Given the description of an element on the screen output the (x, y) to click on. 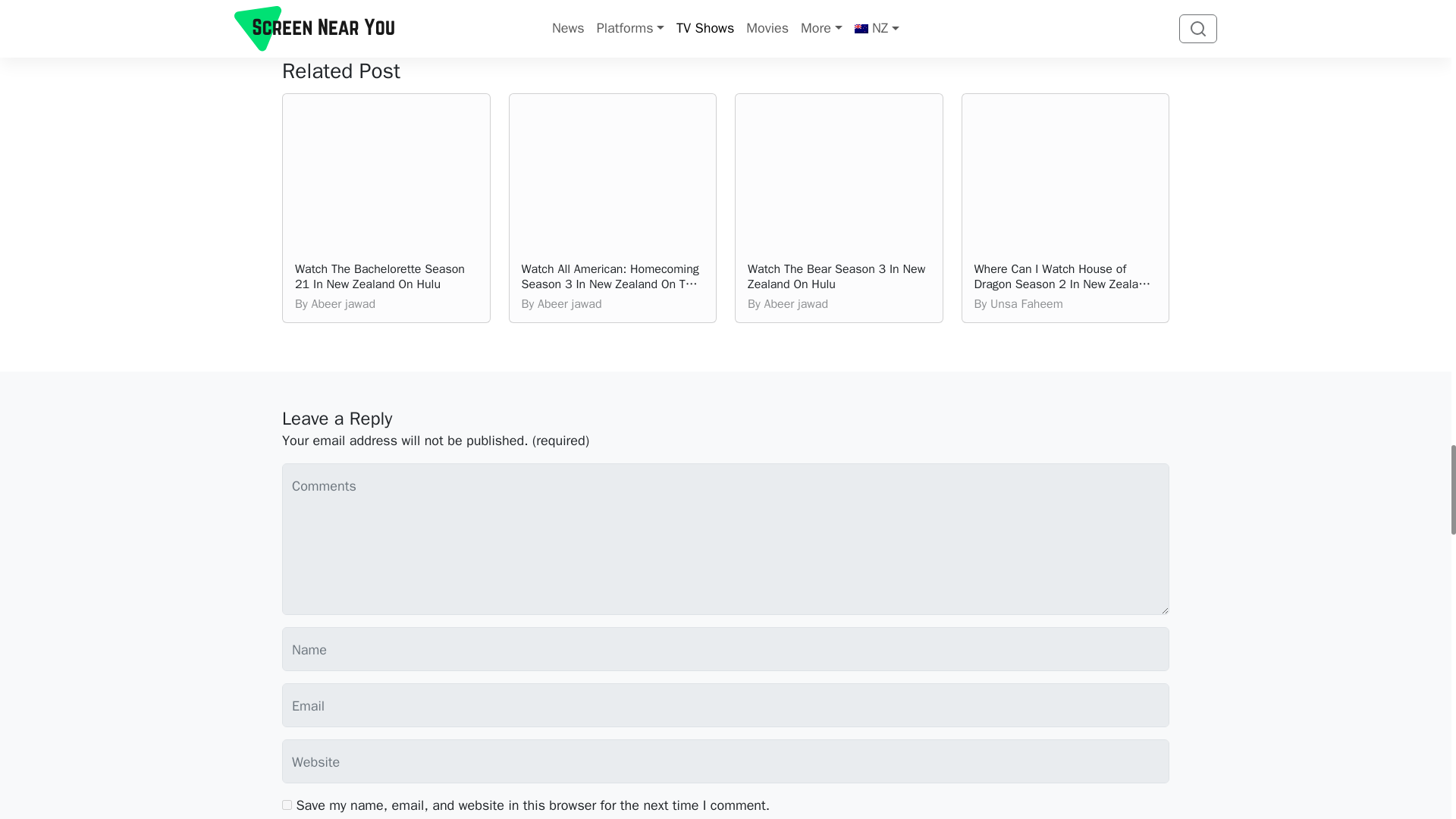
yes (287, 804)
